Given the description of an element on the screen output the (x, y) to click on. 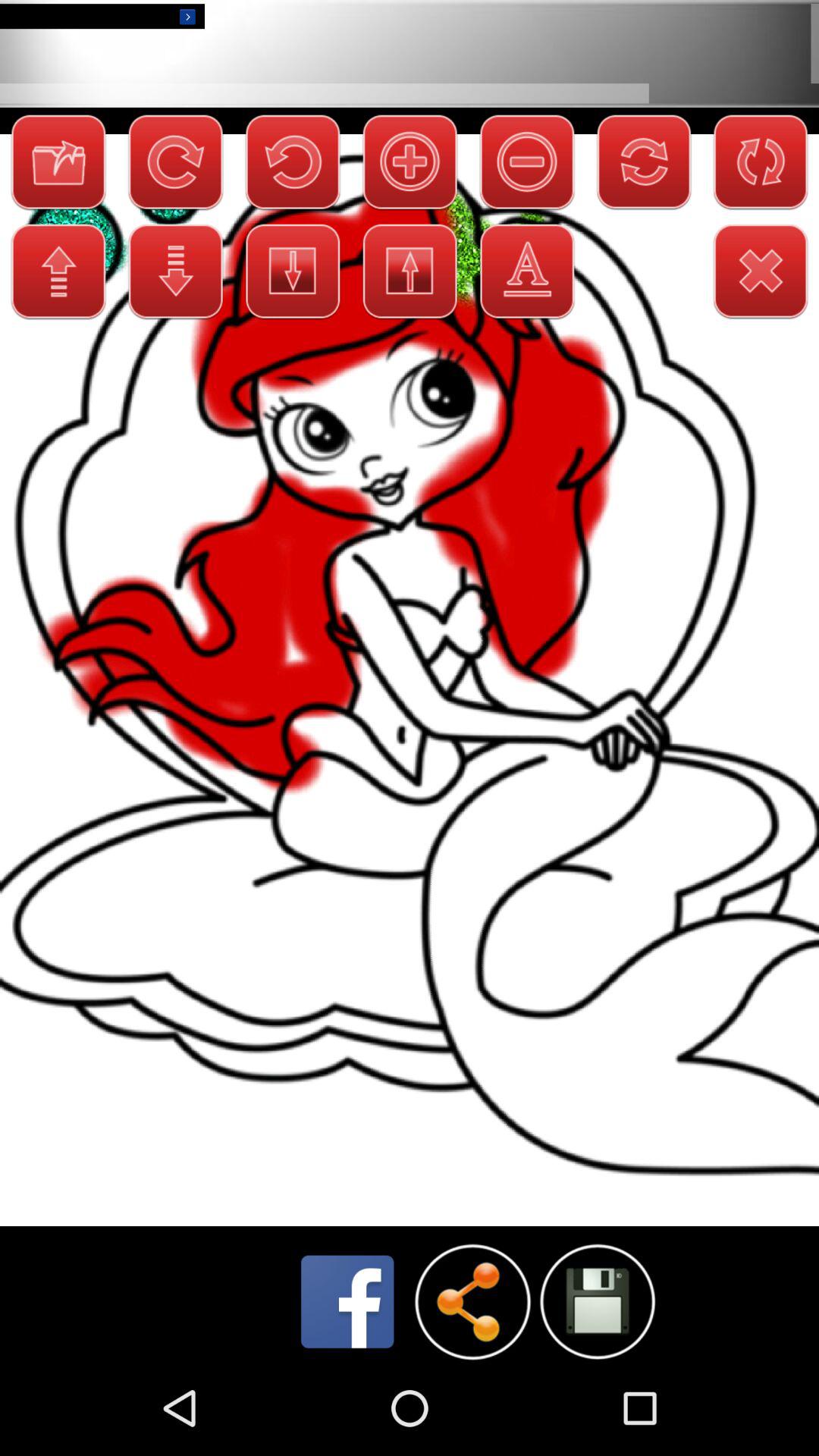
open share options (472, 1301)
